Given the description of an element on the screen output the (x, y) to click on. 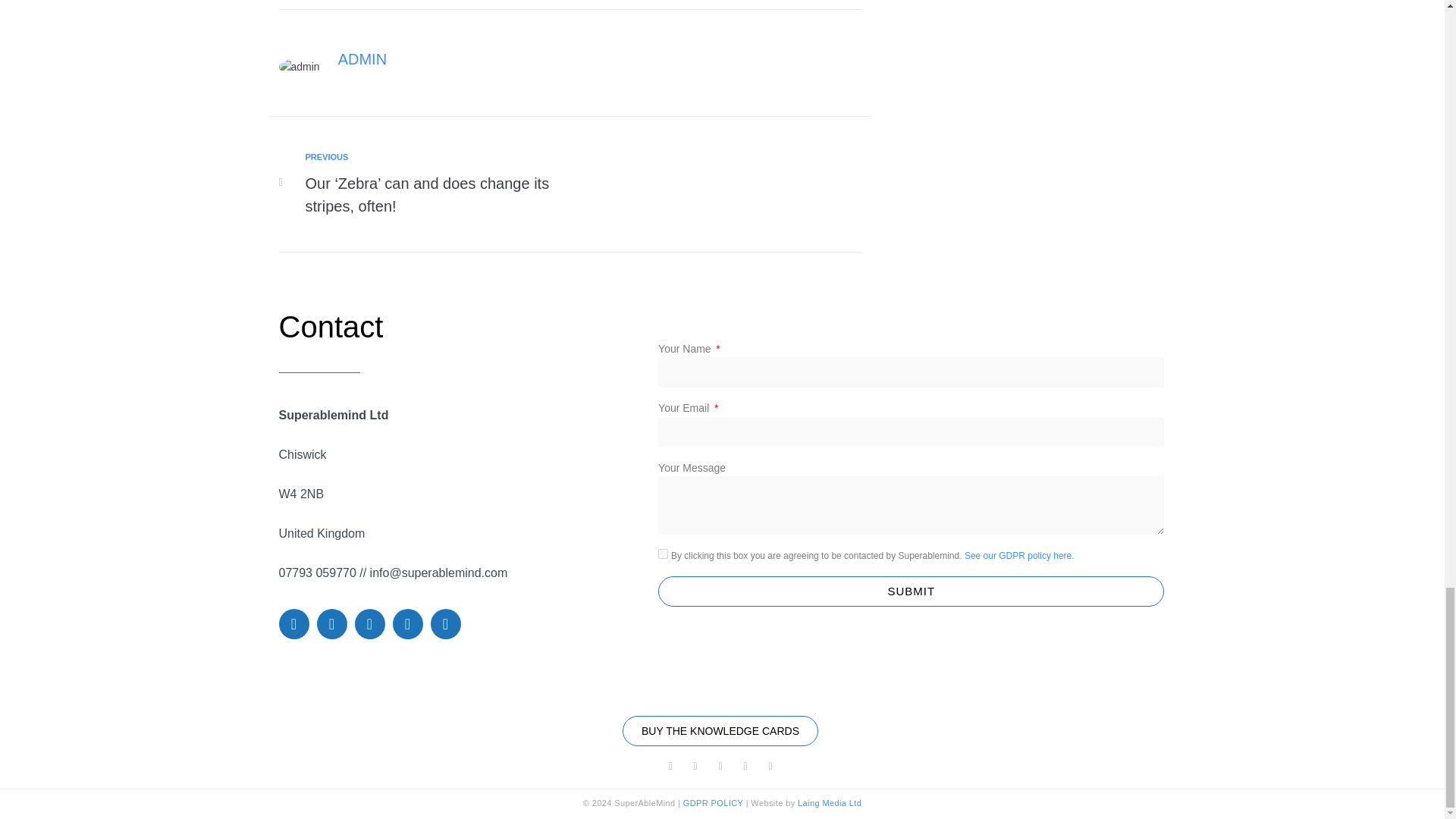
ADMIN (362, 58)
